Given the description of an element on the screen output the (x, y) to click on. 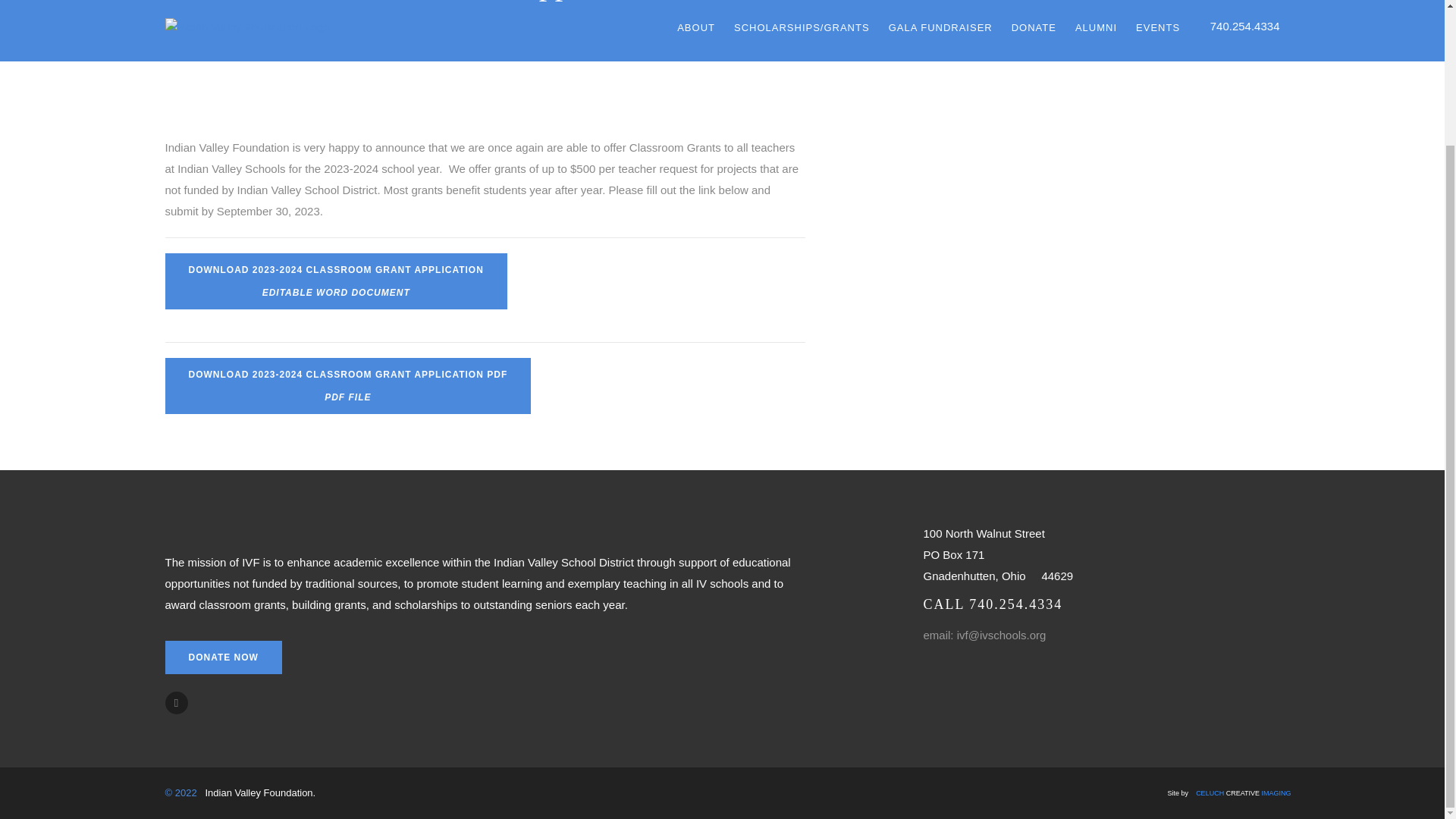
DONATE NOW (223, 657)
